Given the description of an element on the screen output the (x, y) to click on. 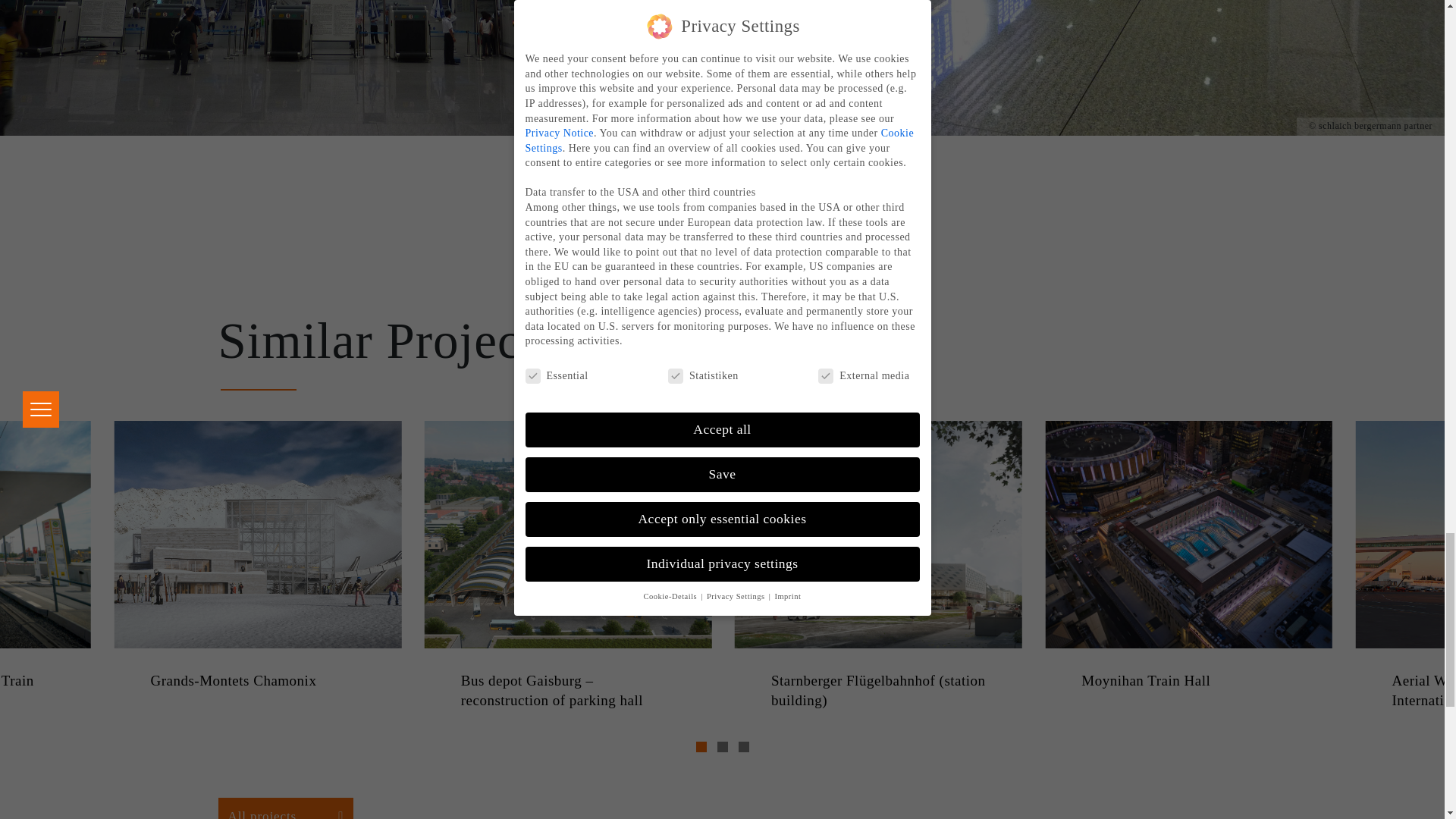
Tram Stop at Berlin Main Train Station (45, 690)
Grands-Montets Chamonix (257, 680)
Moynihan Train Hall (1188, 680)
